Given the description of an element on the screen output the (x, y) to click on. 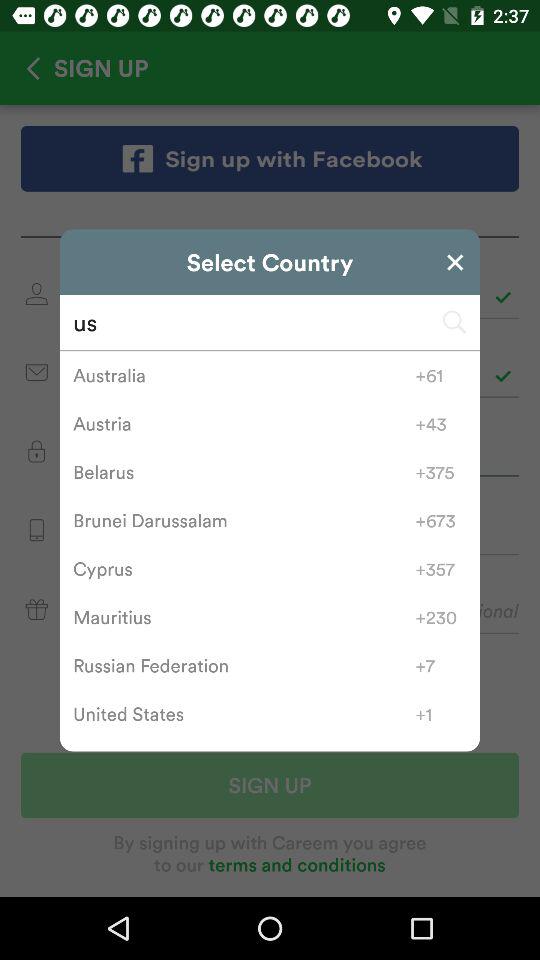
turn on the item to the left of +673 (244, 520)
